Given the description of an element on the screen output the (x, y) to click on. 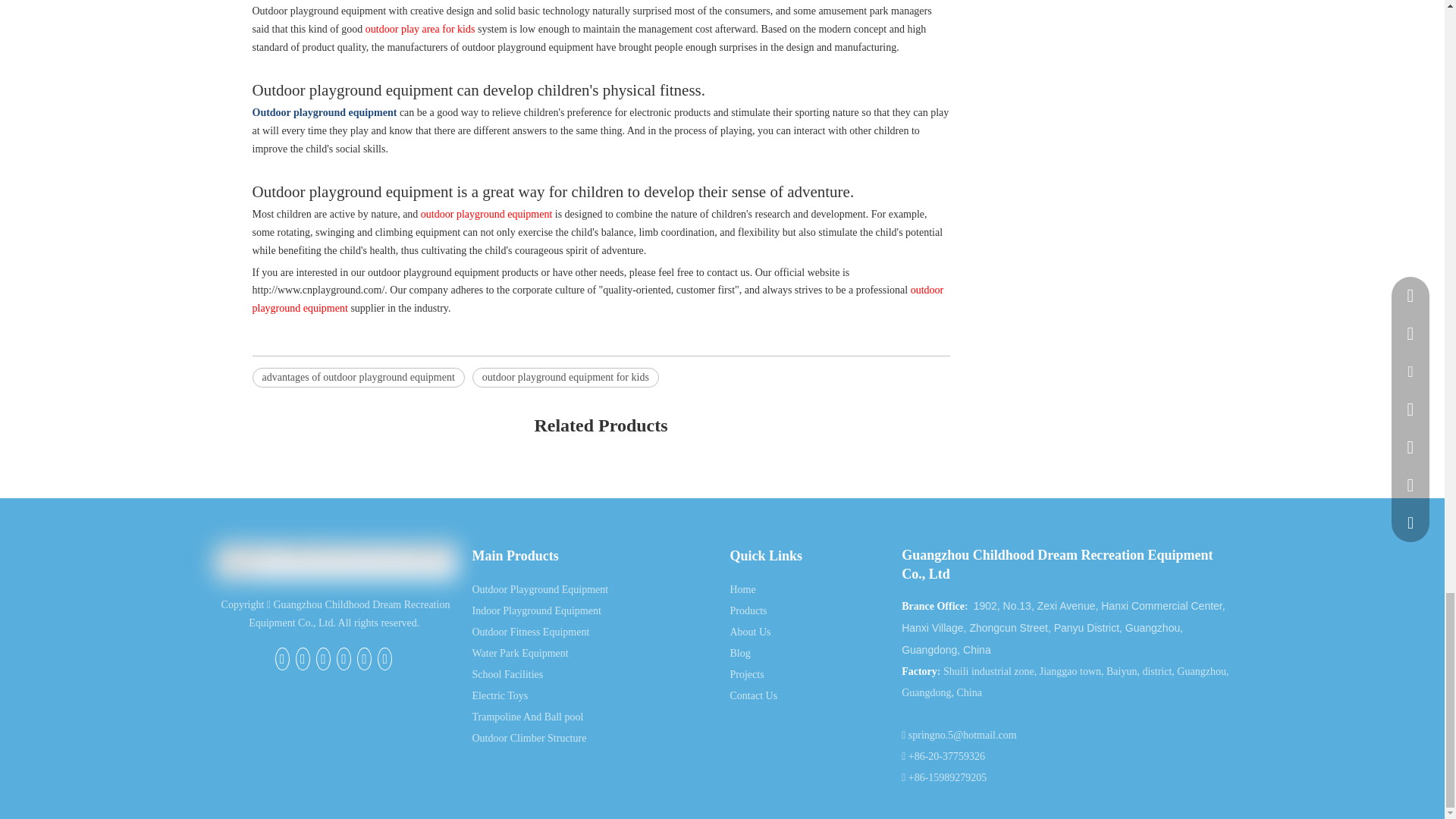
outdoor playground equipment for kids (565, 377)
Linkedin (322, 658)
Indoor Playground Equipment (535, 610)
Youtube (363, 658)
Outdoor Fitness Equipment (530, 632)
Facebook (282, 658)
Guangzhou Childhood Dream Recreation Equipment Co., Ltd (335, 561)
Twitter (343, 658)
Instagram (384, 658)
Outdoor Playground Equipment (539, 589)
advantages of outdoor playground equipment (357, 377)
